Given the description of an element on the screen output the (x, y) to click on. 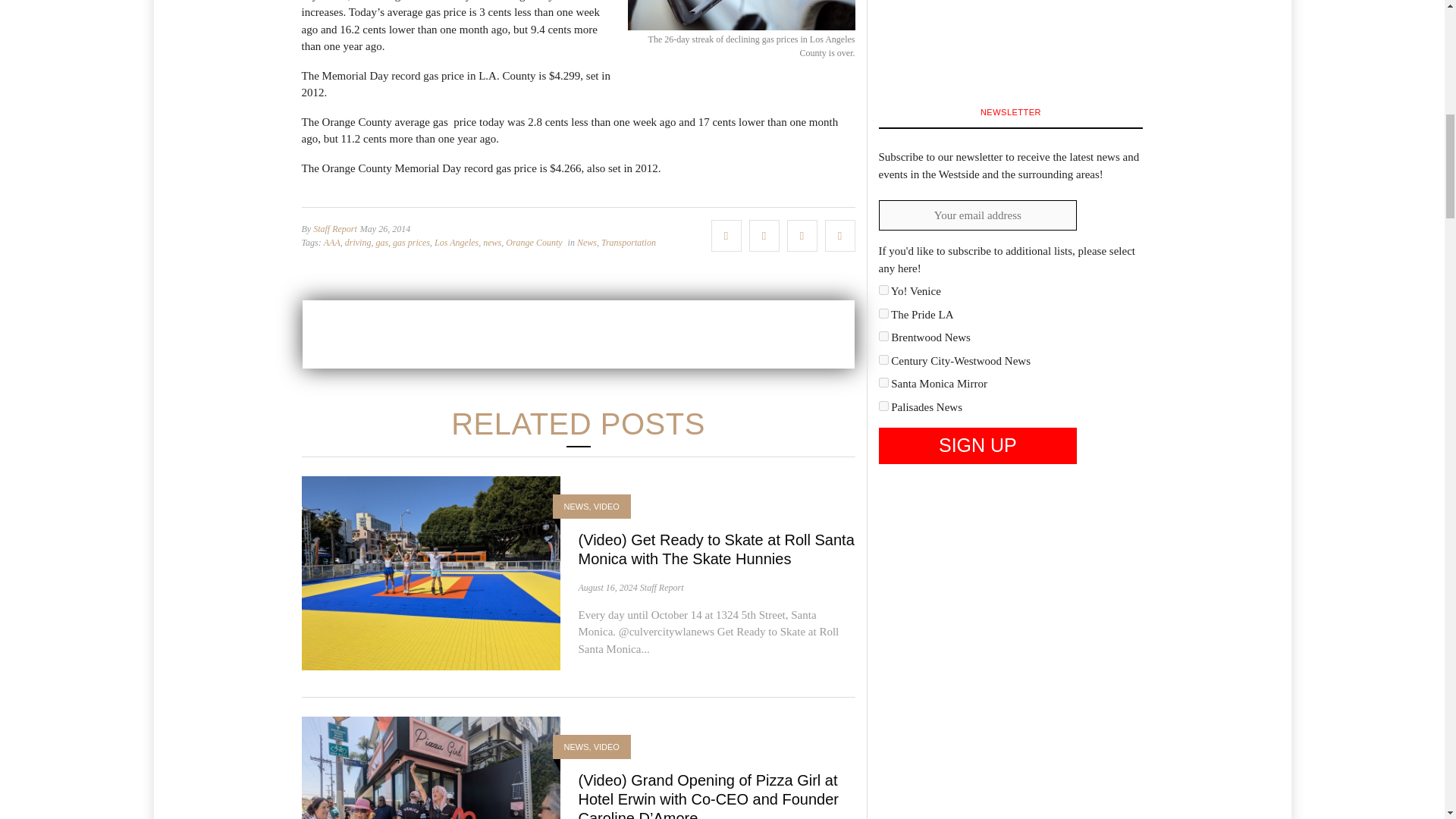
33f79e7e4d (882, 313)
3rd party ad content (577, 334)
news (491, 242)
Los Angeles (456, 242)
5fac618226 (882, 359)
ec7d882848 (882, 406)
Staff Report (334, 228)
AAA (331, 242)
driving (358, 242)
News (586, 242)
